Given the description of an element on the screen output the (x, y) to click on. 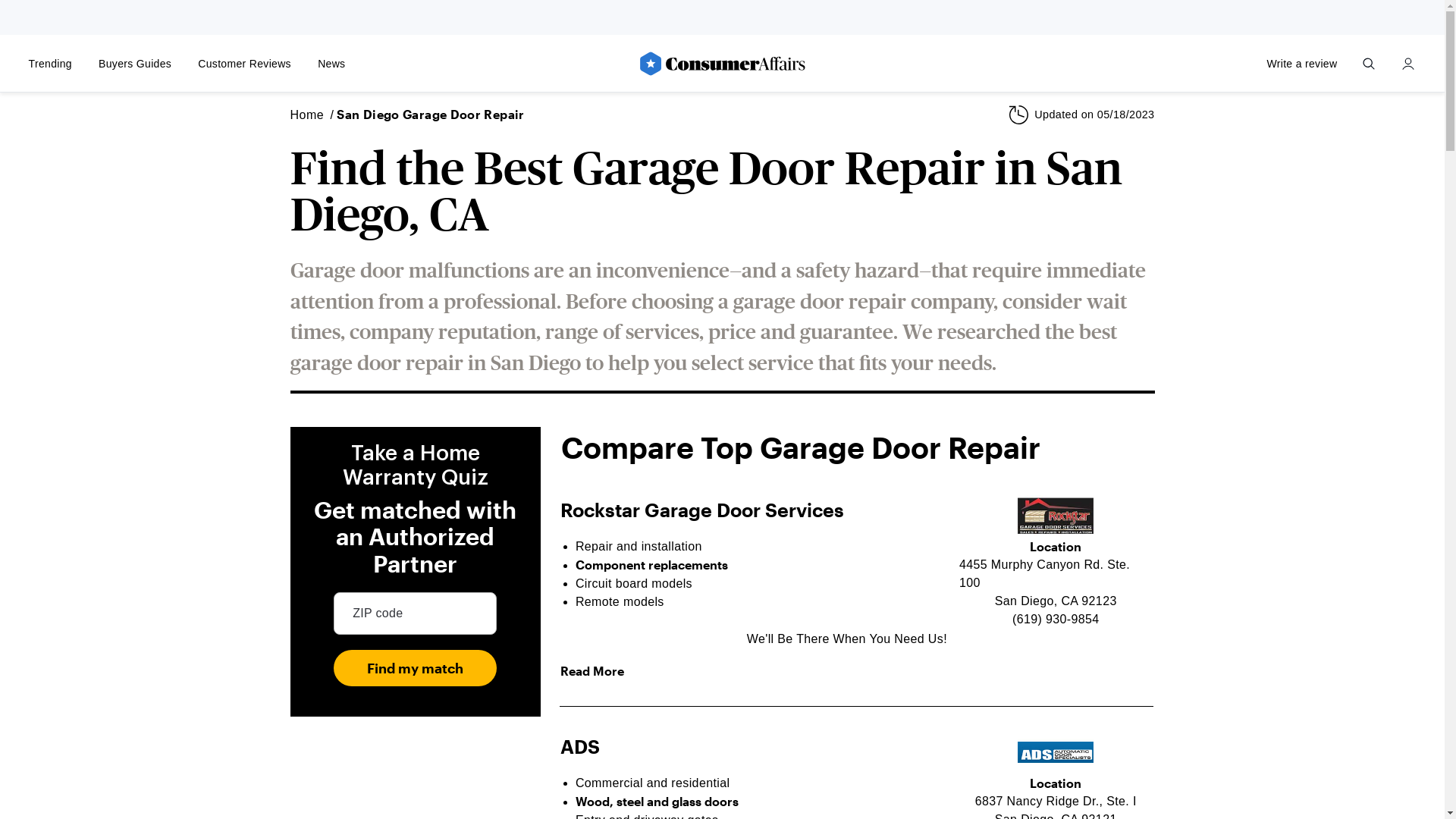
Read More Element type: text (592, 670)
Find my match Element type: text (414, 667)
Customer Reviews Element type: text (244, 63)
Write a review Element type: text (1301, 63)
News Element type: text (331, 63)
Trending Element type: text (50, 63)
Buyers Guides Element type: text (134, 63)
Home Element type: text (306, 114)
